Given the description of an element on the screen output the (x, y) to click on. 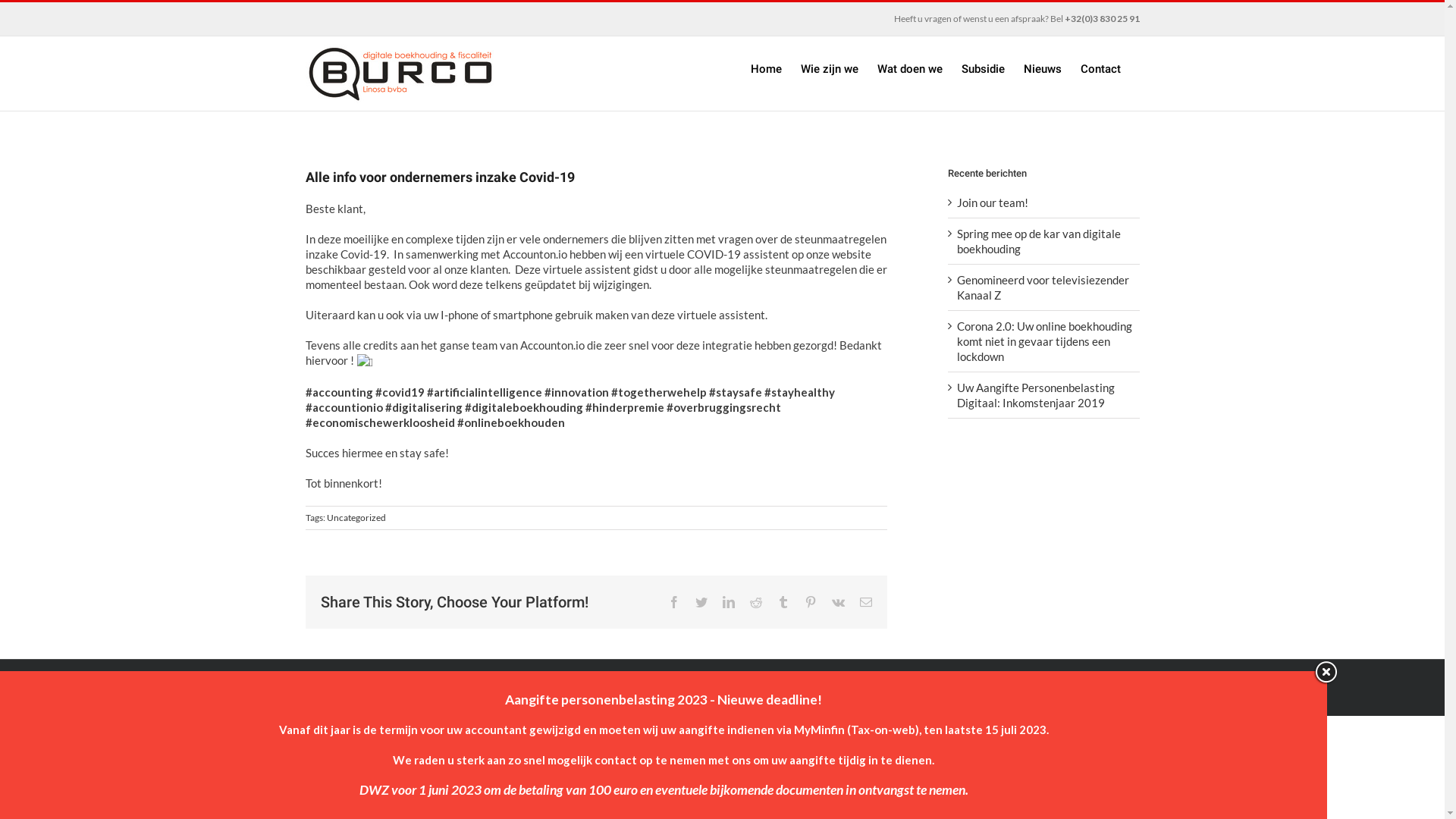
Wie zijn we Element type: text (829, 67)
facebook Element type: text (1105, 688)
Uw Aangifte Personenbelasting Digitaal: Inkomstenjaar 2019 Element type: text (1035, 394)
vk Element type: text (837, 602)
reddit Element type: text (755, 602)
Subsidie Element type: text (982, 67)
linkedin Element type: text (1132, 688)
+32(0)3 830 25 91 Element type: text (1101, 18)
Nieuws Element type: text (1042, 67)
pinterest Element type: text (809, 602)
Join our team! Element type: text (992, 202)
Uncategorized Element type: text (355, 516)
Home Element type: text (765, 67)
tumblr Element type: text (782, 602)
facebook Element type: text (673, 602)
Genomineerd voor televisiezender Kanaal Z Element type: text (1043, 287)
E-mail Element type: text (865, 602)
twitter Element type: text (700, 602)
Wat doen we Element type: text (908, 67)
Sitemap Element type: text (396, 695)
Contact Element type: text (1099, 67)
Spring mee op de kar van digitale boekhouding Element type: text (1038, 240)
linkedin Element type: text (727, 602)
Disclaimer Element type: text (439, 695)
